Given the description of an element on the screen output the (x, y) to click on. 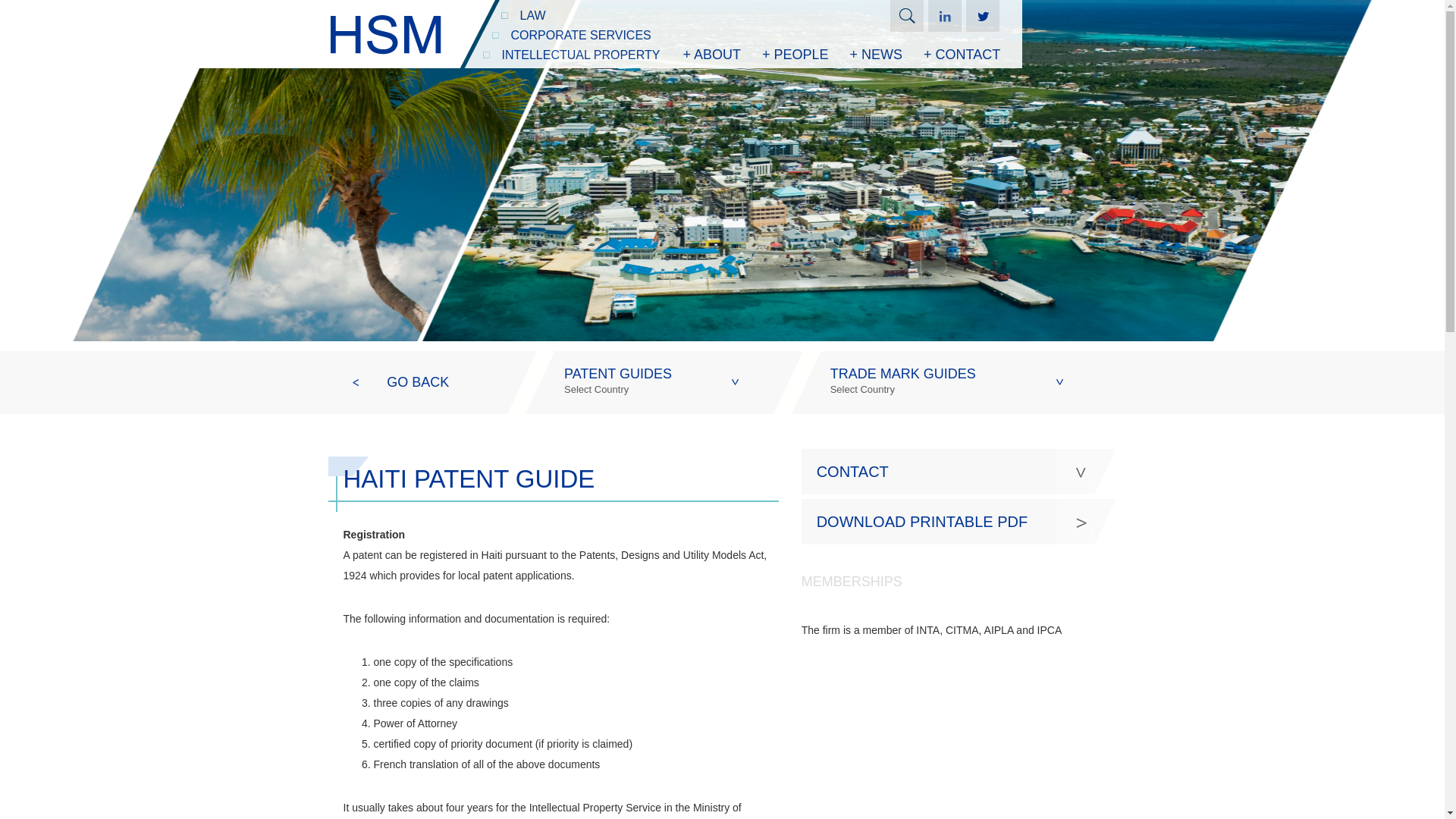
Search (906, 15)
People in HSM (795, 53)
Linkedin (944, 15)
Linkedin (944, 15)
Contact to HSM lawyer company (961, 53)
Twitter (982, 15)
GO BACK (417, 382)
CORPORATE SERVICES (585, 35)
INTELLECTUAL PROPERTY (581, 54)
LAW (649, 382)
About HSM (590, 14)
Search on HSM web (711, 53)
Twitter (906, 15)
HSM news (982, 15)
